Given the description of an element on the screen output the (x, y) to click on. 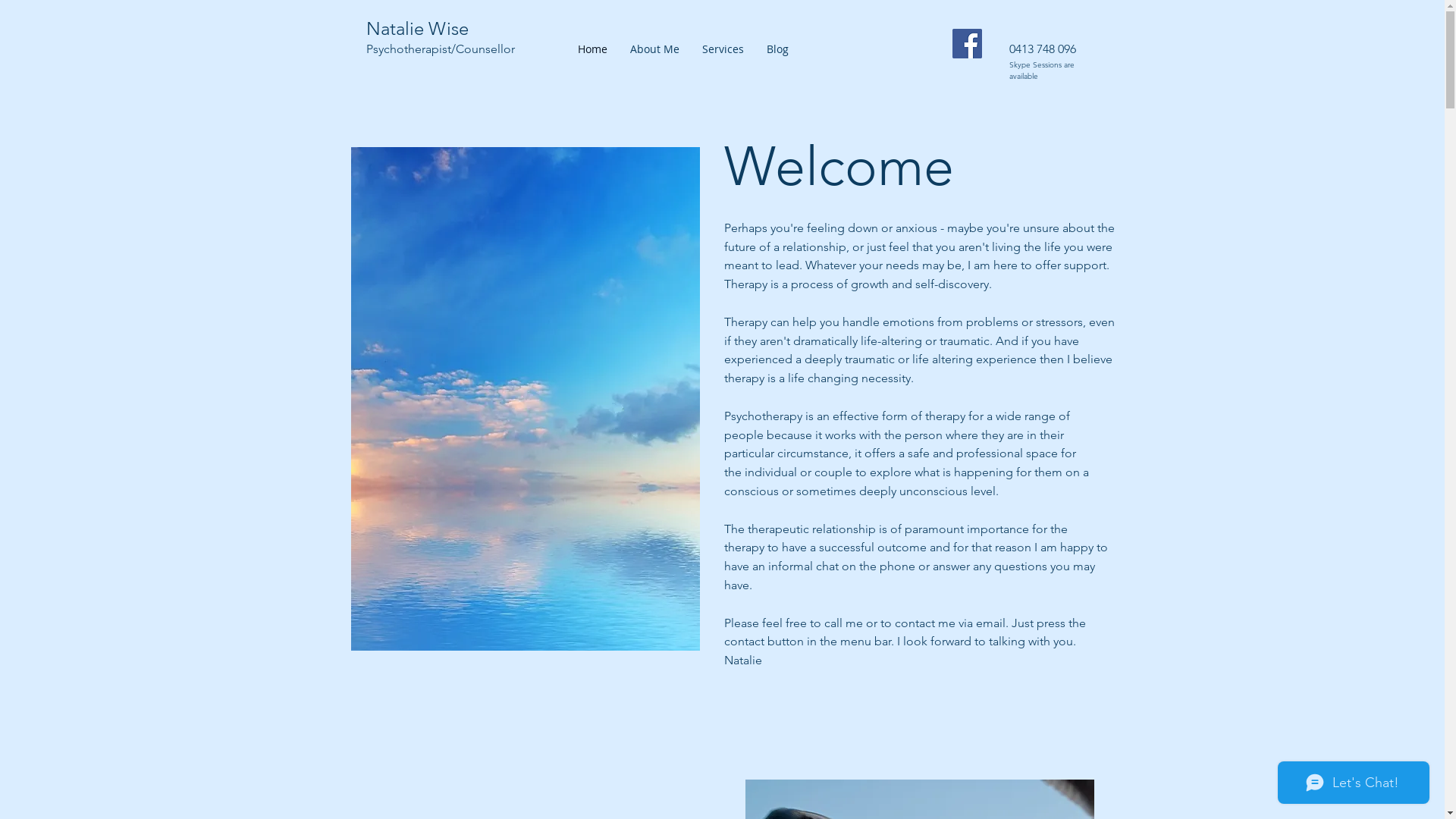
Blog Element type: text (777, 48)
Services Element type: text (722, 48)
About Me Element type: text (654, 48)
Home Element type: text (591, 48)
